Given the description of an element on the screen output the (x, y) to click on. 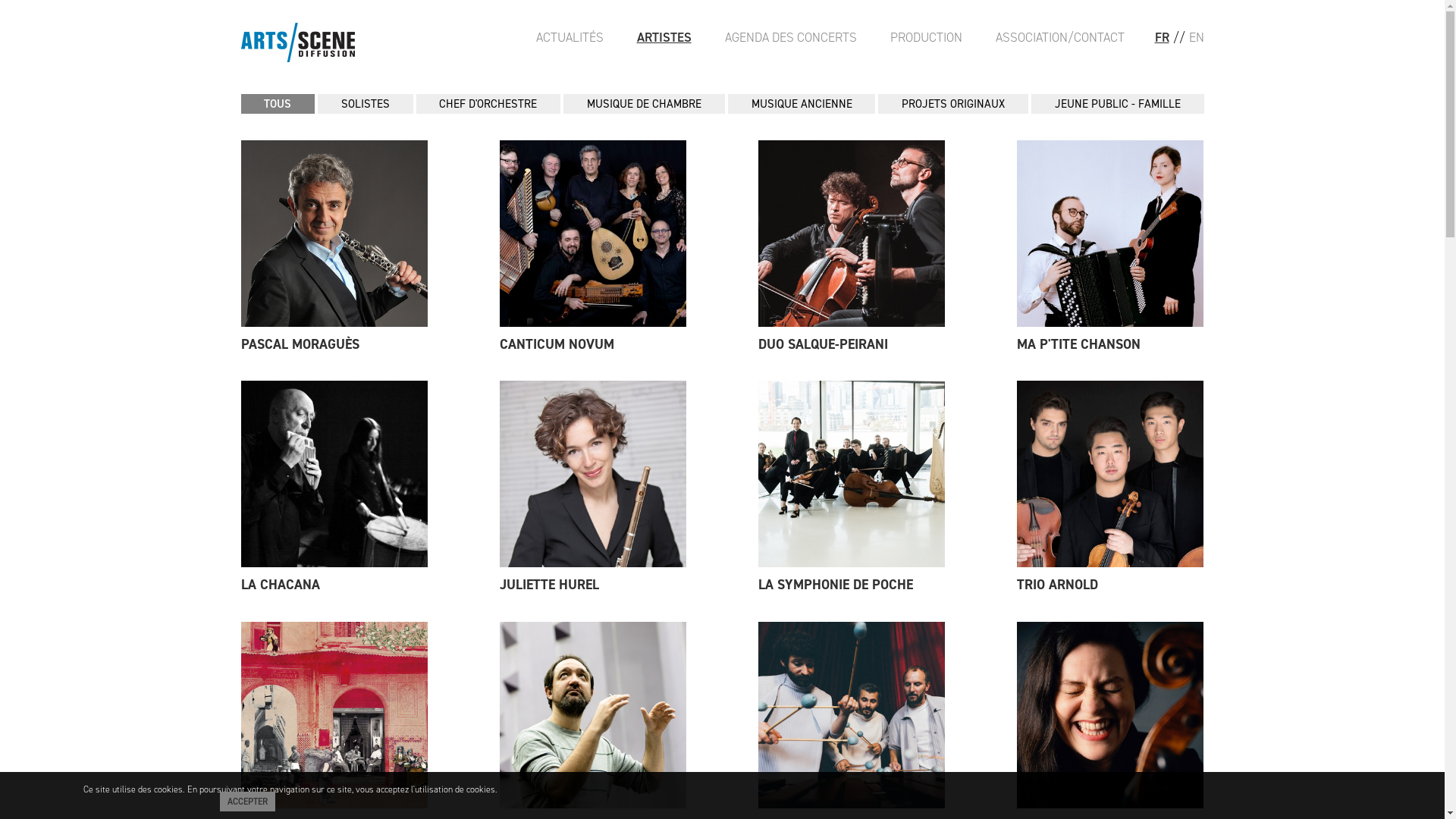
SOLISTES Element type: text (365, 104)
JULIETTE HUREL Element type: text (592, 585)
LA CHACANA Element type: text (334, 585)
ARTISTES Element type: text (664, 36)
MUSIQUE ANCIENNE Element type: text (801, 104)
TRIO ARNOLD Element type: text (1109, 585)
FR Element type: text (1161, 36)
ACCEPTER Element type: text (247, 801)
TOUS Element type: text (278, 104)
DUO SALQUE-PEIRANI Element type: text (851, 344)
CHEF D'ORCHESTRE Element type: text (488, 104)
PRODUCTION Element type: text (926, 36)
MA P'TITE CHANSON Element type: text (1109, 344)
JEUNE PUBLIC - FAMILLE Element type: text (1117, 104)
PROJETS ORIGINAUX Element type: text (953, 104)
ASSOCIATION/CONTACT Element type: text (1058, 36)
LA SYMPHONIE DE POCHE Element type: text (851, 585)
MUSIQUE DE CHAMBRE Element type: text (643, 104)
CANTICUM NOVUM Element type: text (592, 344)
AGENDA DES CONCERTS Element type: text (790, 36)
EN Element type: text (1196, 36)
